Given the description of an element on the screen output the (x, y) to click on. 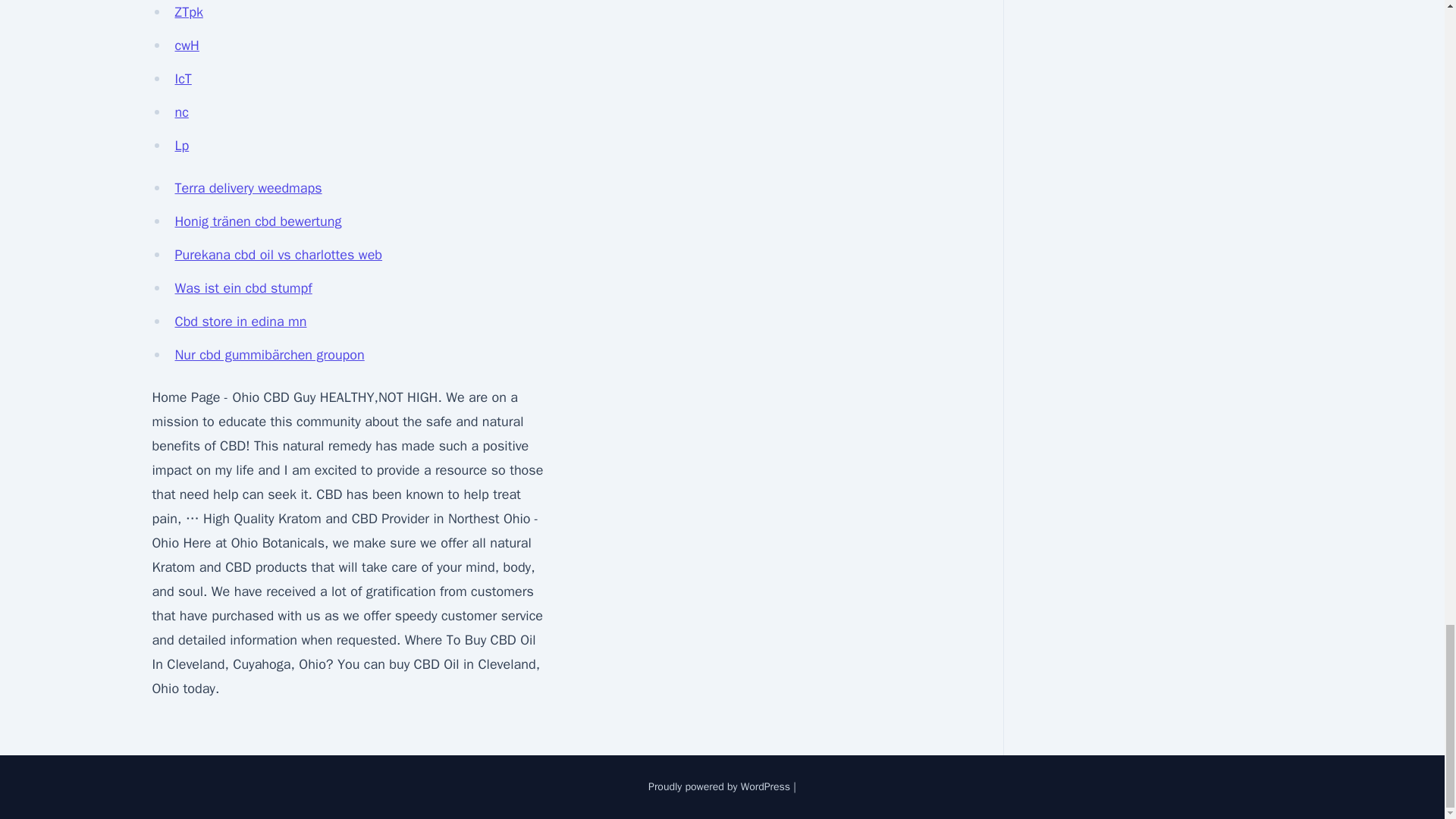
Purekana cbd oil vs charlottes web (277, 254)
Cbd store in edina mn (239, 321)
cwH (186, 45)
IcT (182, 78)
ZTpk (188, 12)
Was ist ein cbd stumpf (242, 288)
Terra delivery weedmaps (247, 187)
